Given the description of an element on the screen output the (x, y) to click on. 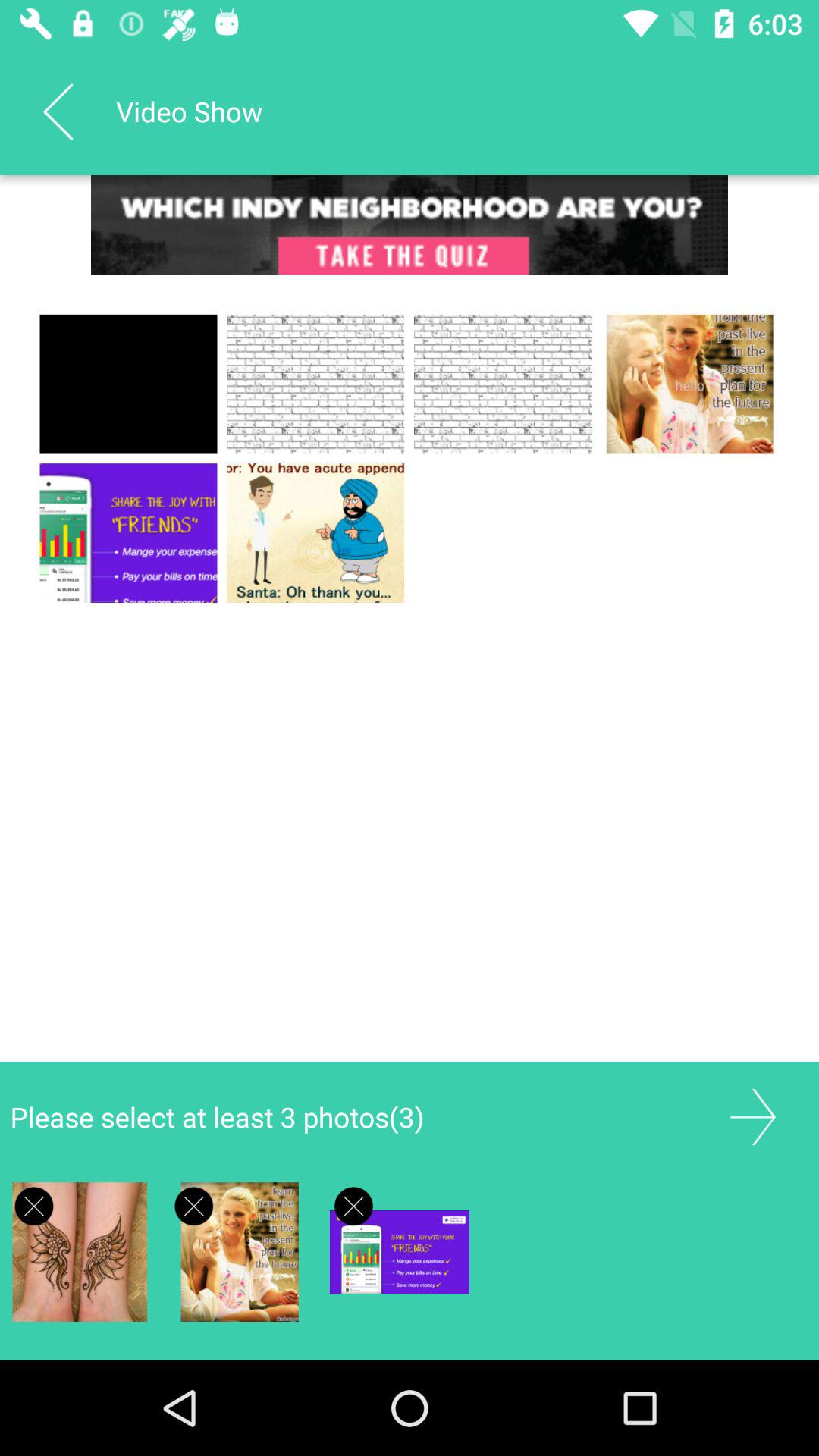
close item (193, 1206)
